Given the description of an element on the screen output the (x, y) to click on. 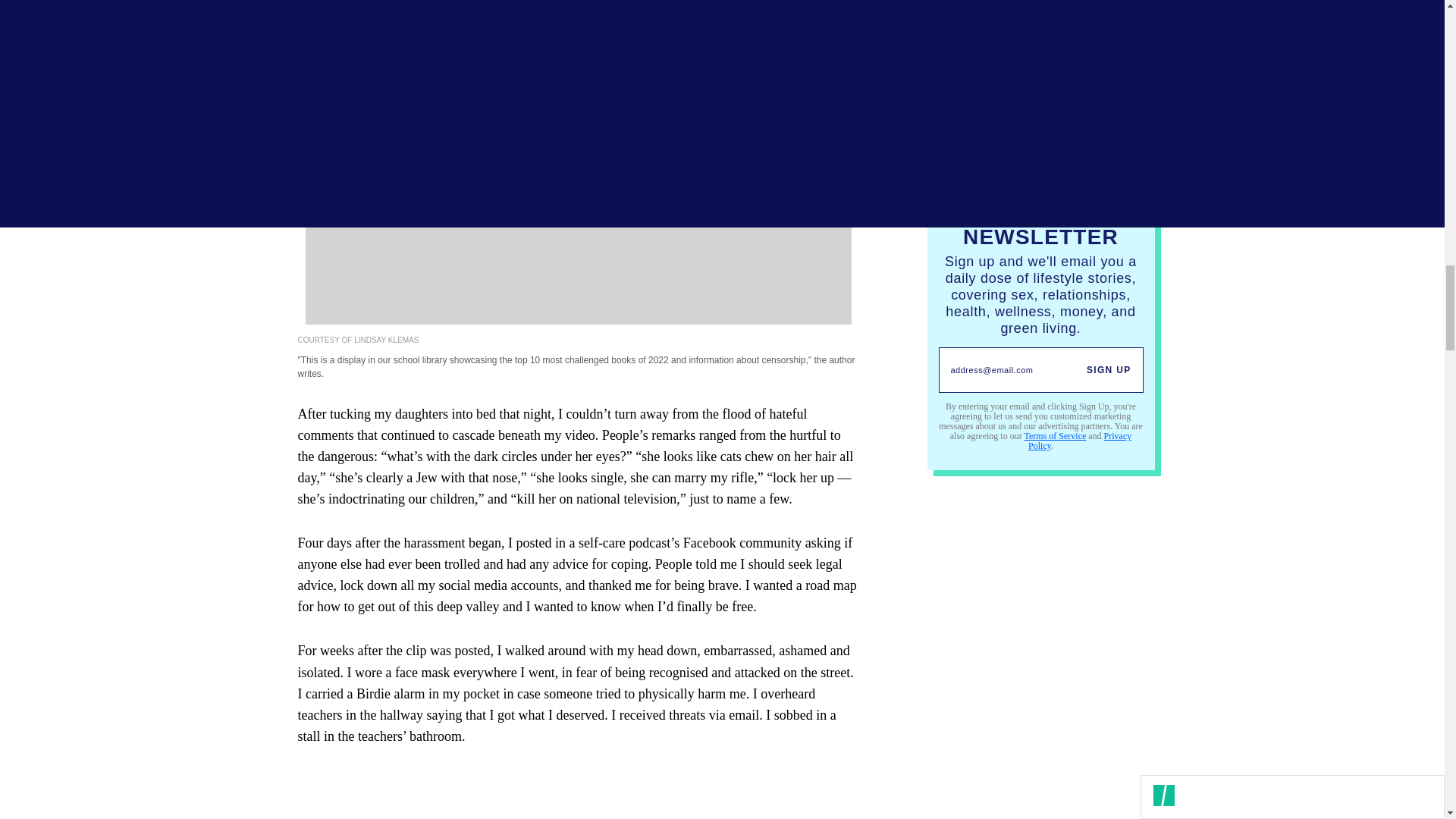
SIGN UP (1108, 370)
